Given the description of an element on the screen output the (x, y) to click on. 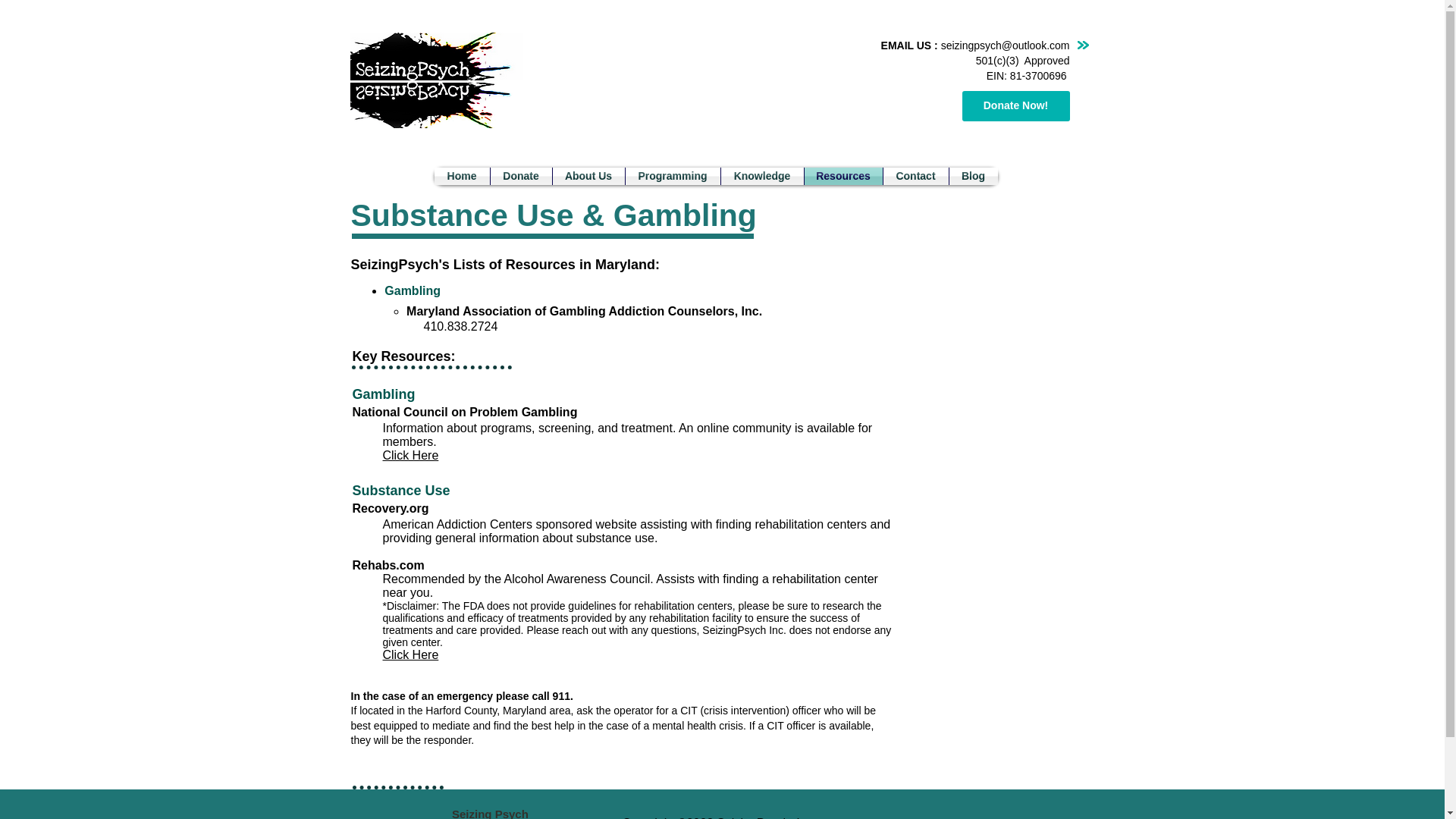
Resources (842, 176)
Click Here (409, 653)
Programming (671, 176)
Blog (973, 176)
Home (461, 176)
Click Here (409, 454)
Donate Now! (1014, 105)
Donate (520, 176)
Knowledge (761, 176)
About Us (587, 176)
Contact (914, 176)
